Given the description of an element on the screen output the (x, y) to click on. 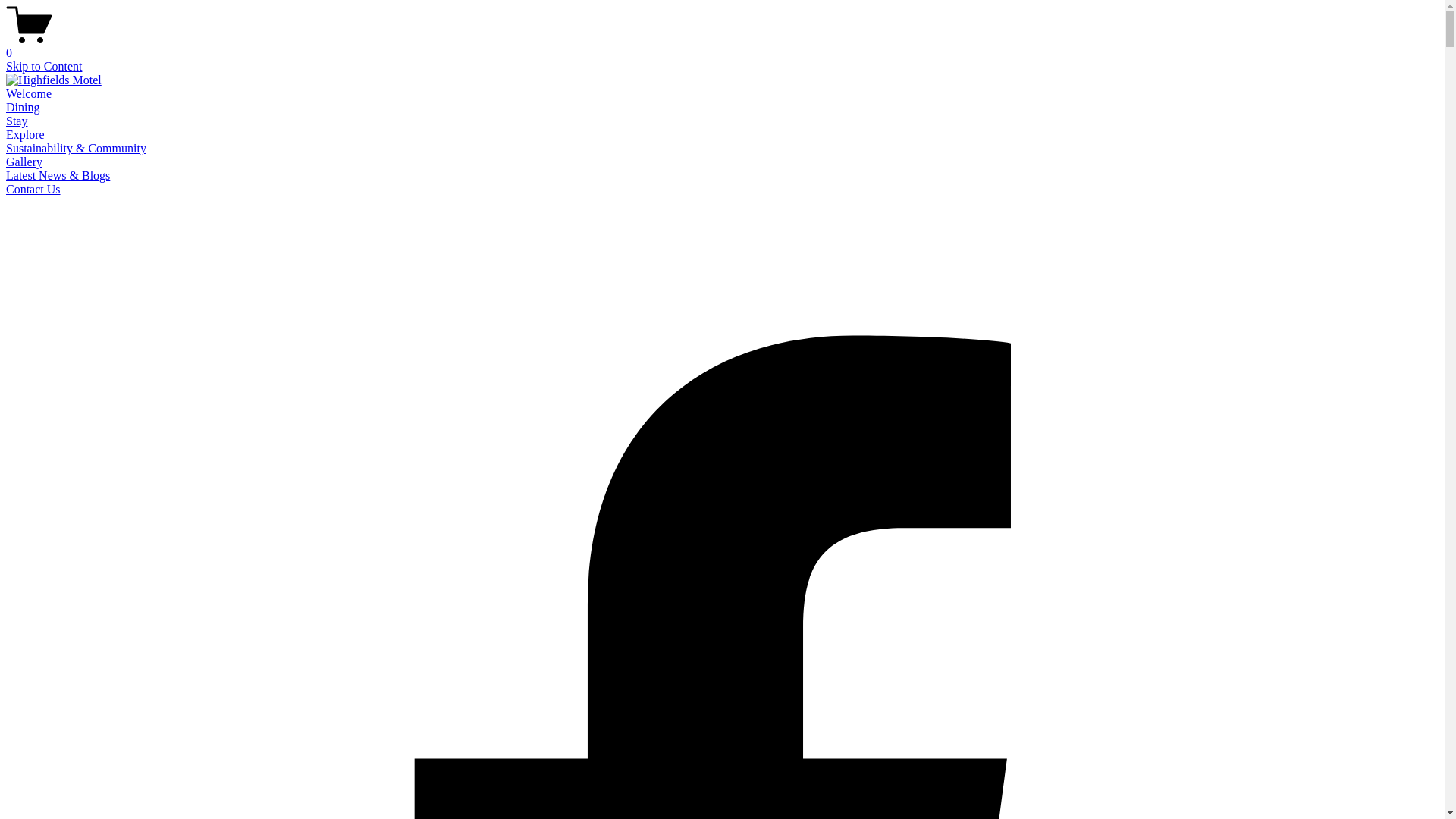
0 Element type: text (722, 45)
Skip to Content Element type: text (43, 65)
Latest News & Blogs Element type: text (57, 175)
Stay Element type: text (16, 120)
Contact Us Element type: text (33, 188)
Dining Element type: text (22, 106)
Explore Element type: text (25, 134)
Gallery Element type: text (24, 161)
Sustainability & Community Element type: text (76, 147)
Welcome Element type: text (28, 93)
